Given the description of an element on the screen output the (x, y) to click on. 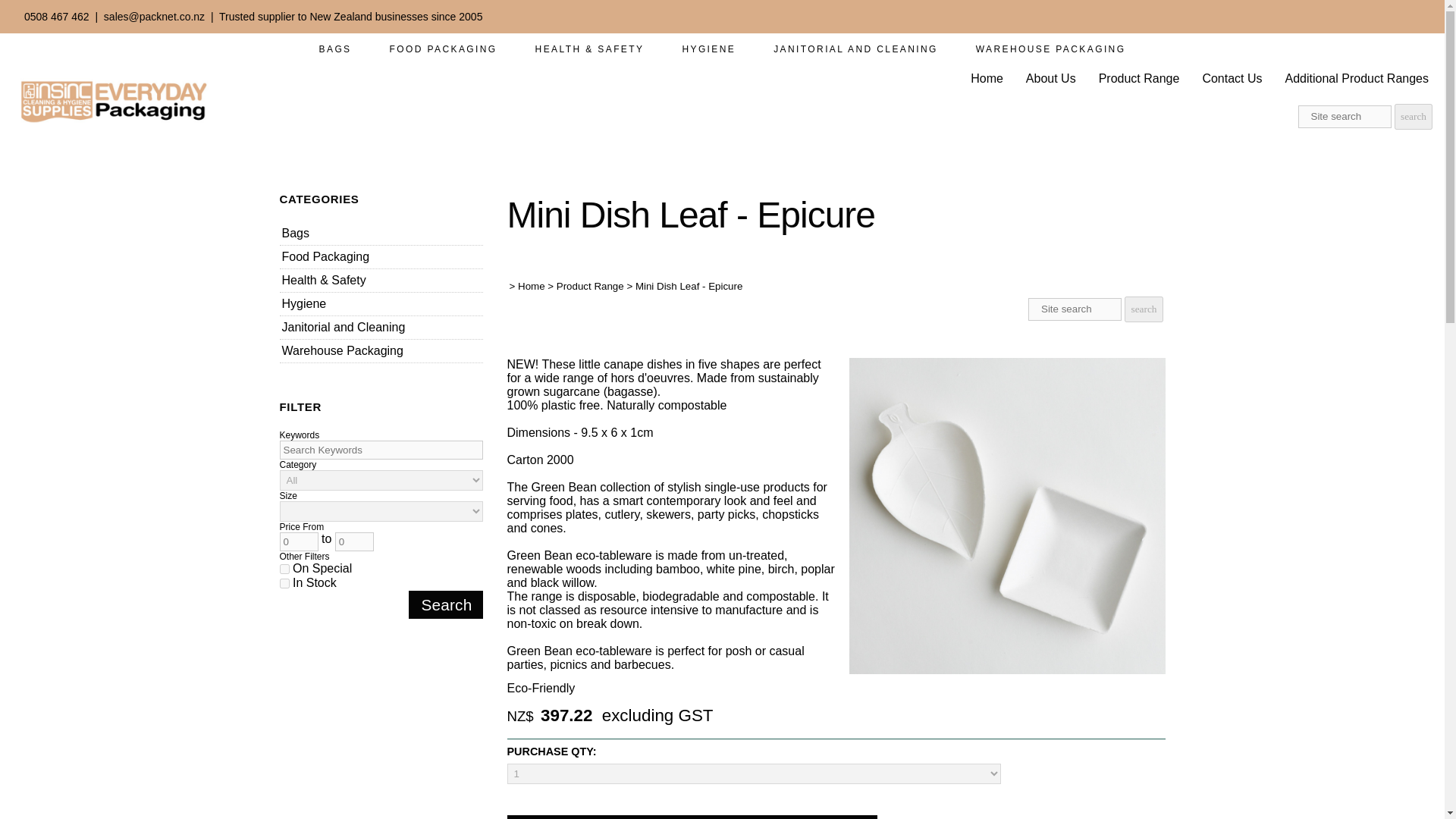
0508 467 462 (56, 16)
1 (283, 583)
Search (445, 604)
Mini Dish Leaf - Epicure (1007, 669)
1 (283, 569)
BAGS (335, 49)
